Given the description of an element on the screen output the (x, y) to click on. 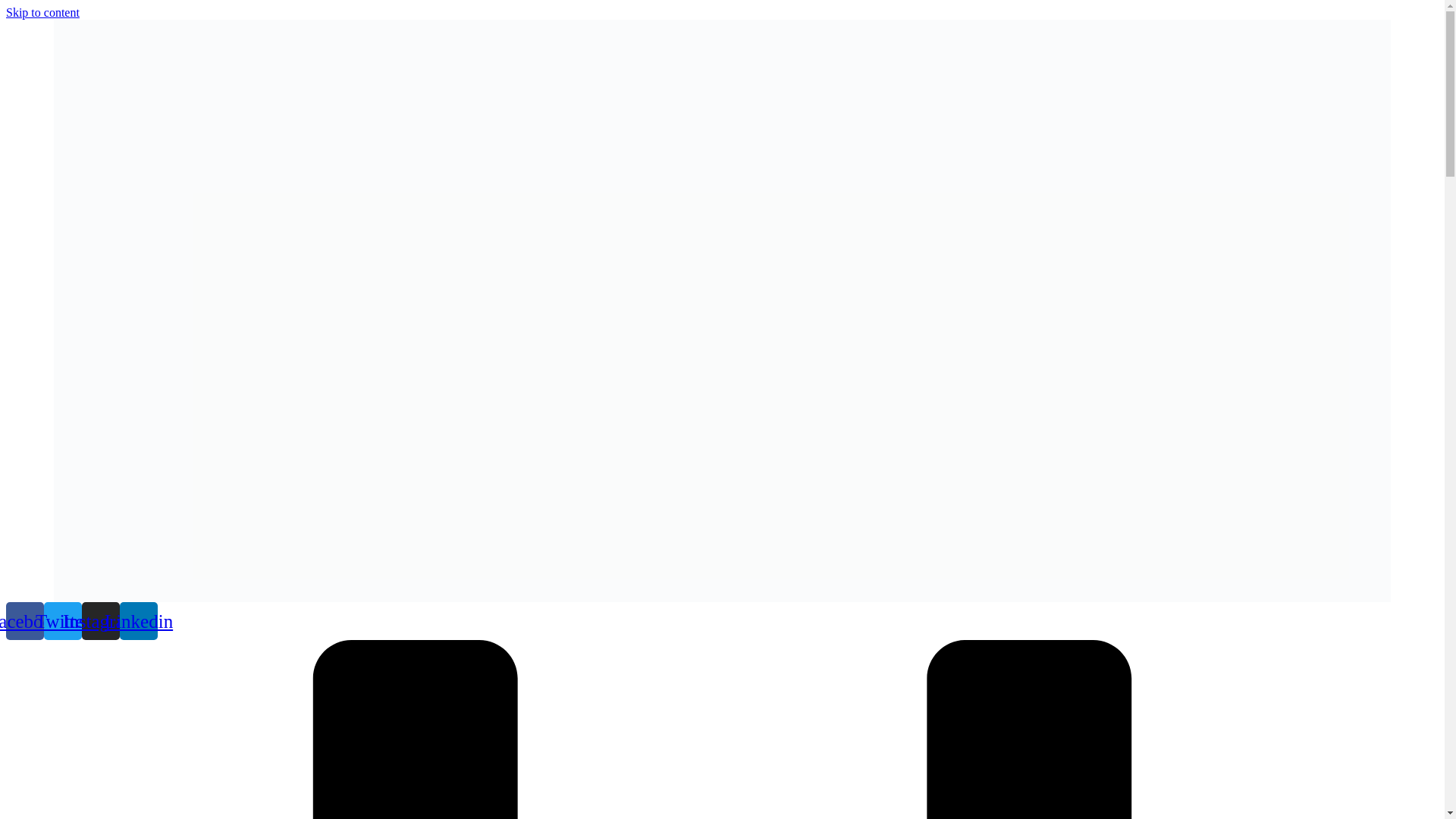
Linkedin (138, 620)
Instagram (100, 620)
Facebook (24, 620)
Follow us on Instagram (100, 620)
Follow us on LinkedIn (138, 620)
Follow us on Twitter (62, 620)
Twitter (62, 620)
Follow us on Facebook (24, 620)
Skip to content (42, 11)
